Given the description of an element on the screen output the (x, y) to click on. 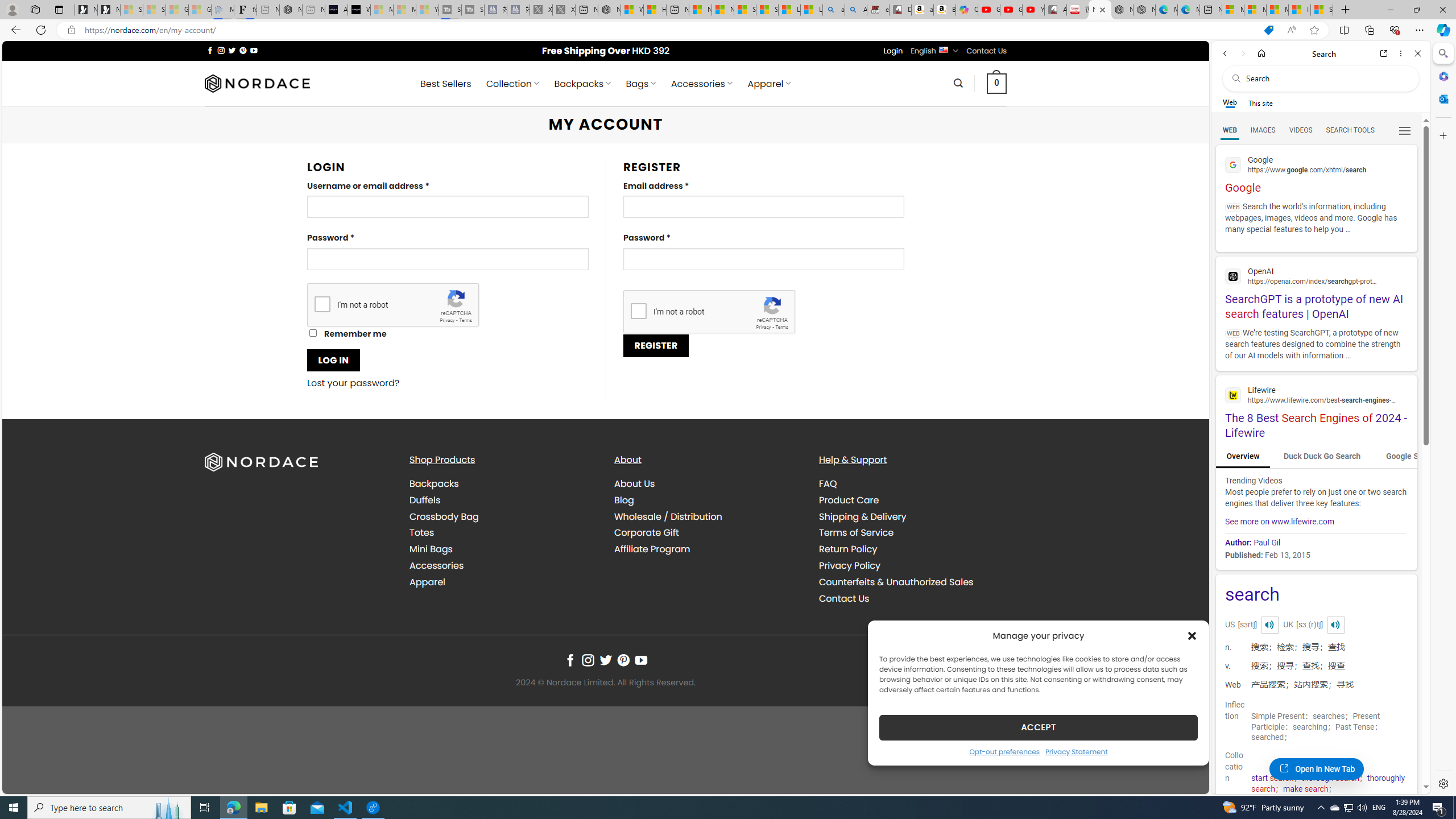
Customize (1442, 135)
New tab - Sleeping (313, 9)
Search Filter, VIDEOS (1300, 129)
Return Policy (847, 549)
Author: Paul Gil (1252, 542)
This site scope (1259, 102)
English (943, 49)
Login (892, 50)
